Given the description of an element on the screen output the (x, y) to click on. 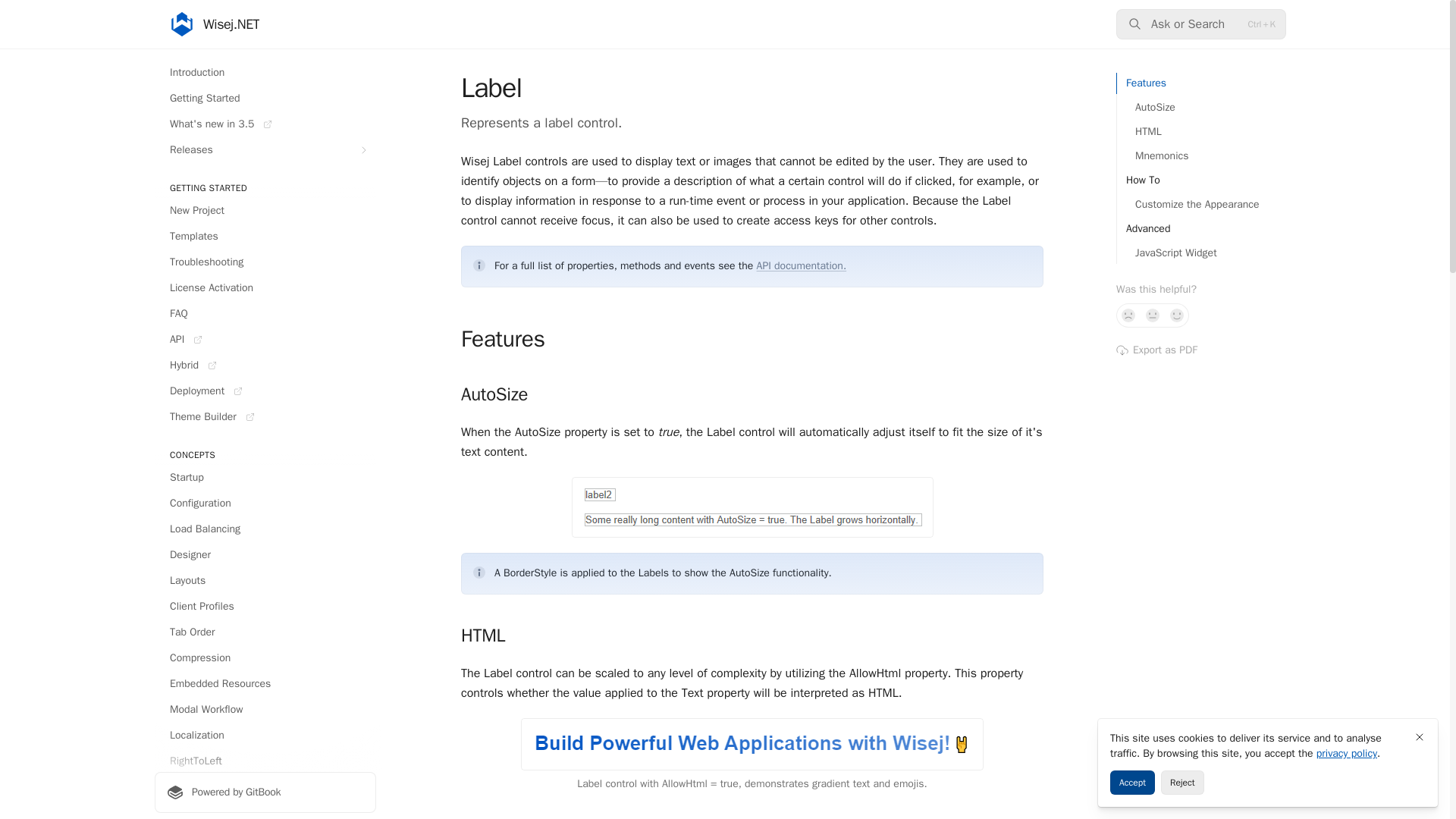
API (264, 339)
No (1128, 315)
Not sure (1152, 315)
Wisej.NET (214, 24)
Getting Started (264, 98)
What's new in 3.5 (264, 124)
Load Balancing (264, 528)
Templates (264, 236)
Troubleshooting (264, 262)
Deployment (264, 391)
New Project (264, 210)
Hybrid (264, 364)
Introduction (264, 72)
Yes, it was! (1176, 315)
FAQ (264, 313)
